Given the description of an element on the screen output the (x, y) to click on. 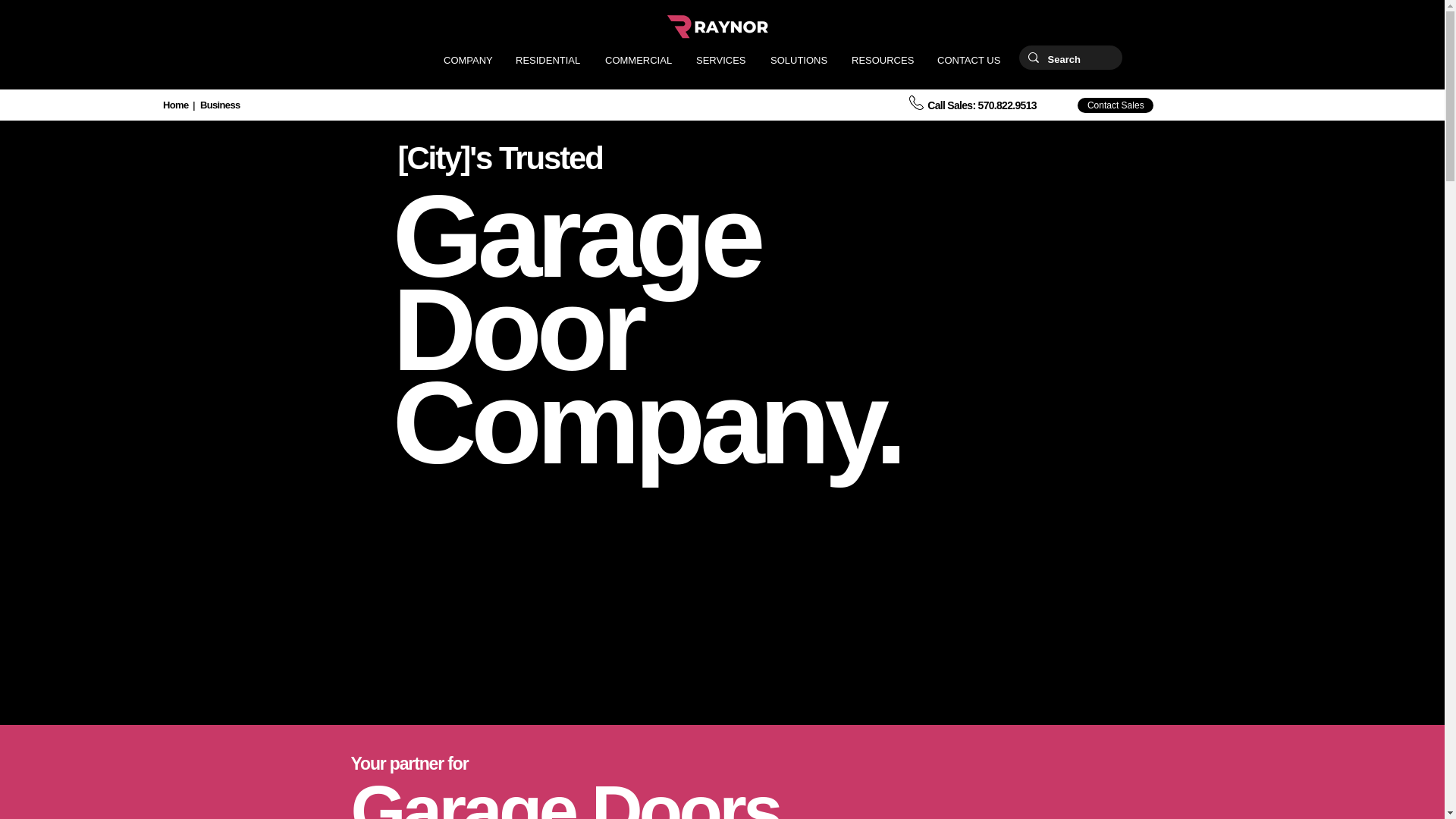
RAYNOR (718, 26)
Home (176, 104)
Contact Sales (1115, 105)
COMMERCIAL (638, 59)
Call Sales: 570.822.9513 (981, 105)
RESIDENTIAL (547, 59)
Business (220, 104)
CONTACT US (967, 59)
